Given the description of an element on the screen output the (x, y) to click on. 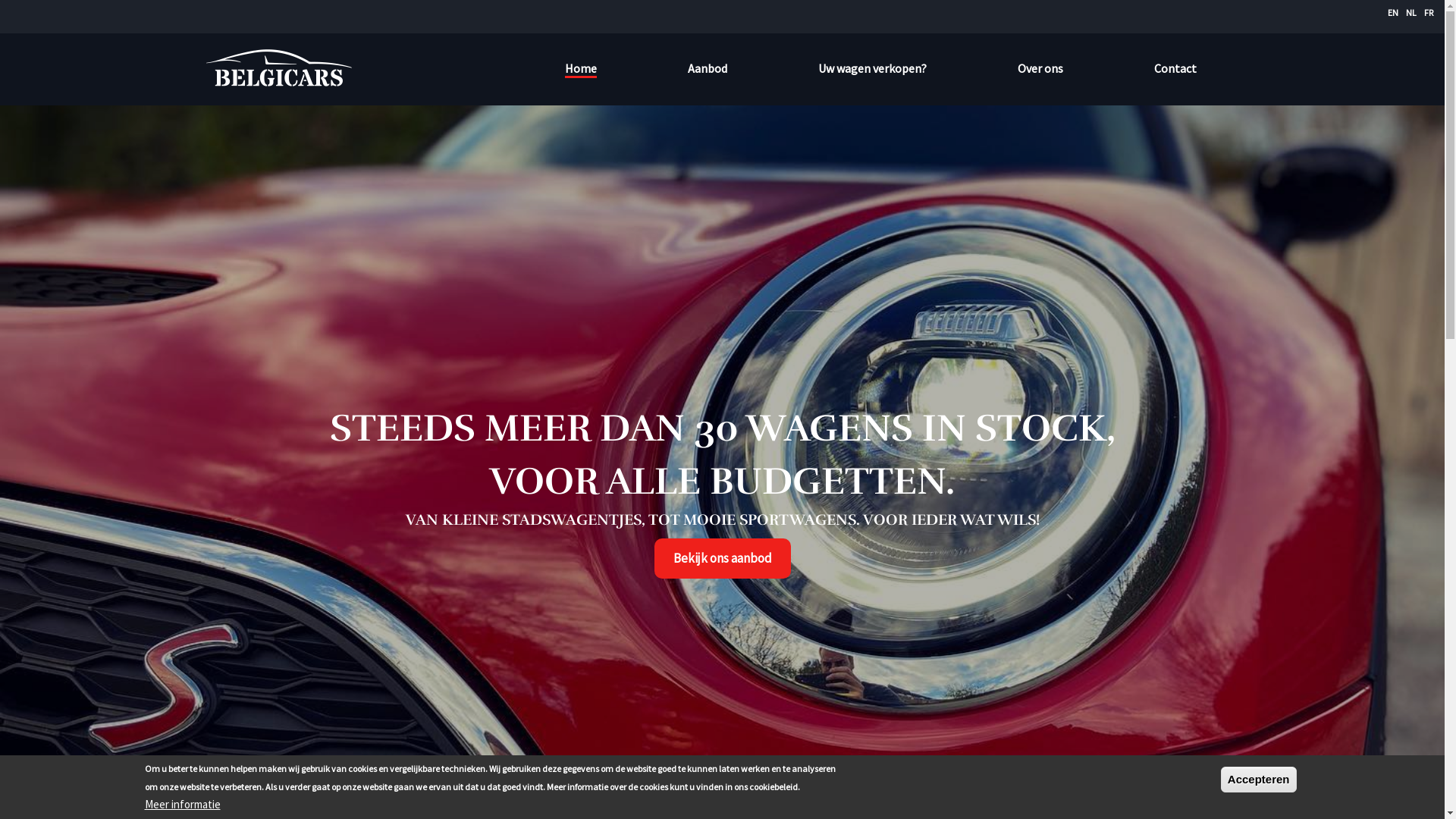
NL Element type: text (1410, 12)
Home Element type: hover (284, 68)
Uw wagen verkopen? Element type: text (871, 67)
Overslaan en naar de inhoud gaan Element type: text (0, 0)
Over ons Element type: text (1040, 67)
Aanbod Element type: text (706, 67)
Meer informatie Element type: text (181, 804)
EN Element type: text (1392, 12)
Bekijk ons aanbod Element type: text (721, 558)
Contact Element type: text (1175, 67)
Accepteren Element type: text (1258, 779)
Home Element type: text (580, 69)
FR Element type: text (1428, 12)
